Given the description of an element on the screen output the (x, y) to click on. 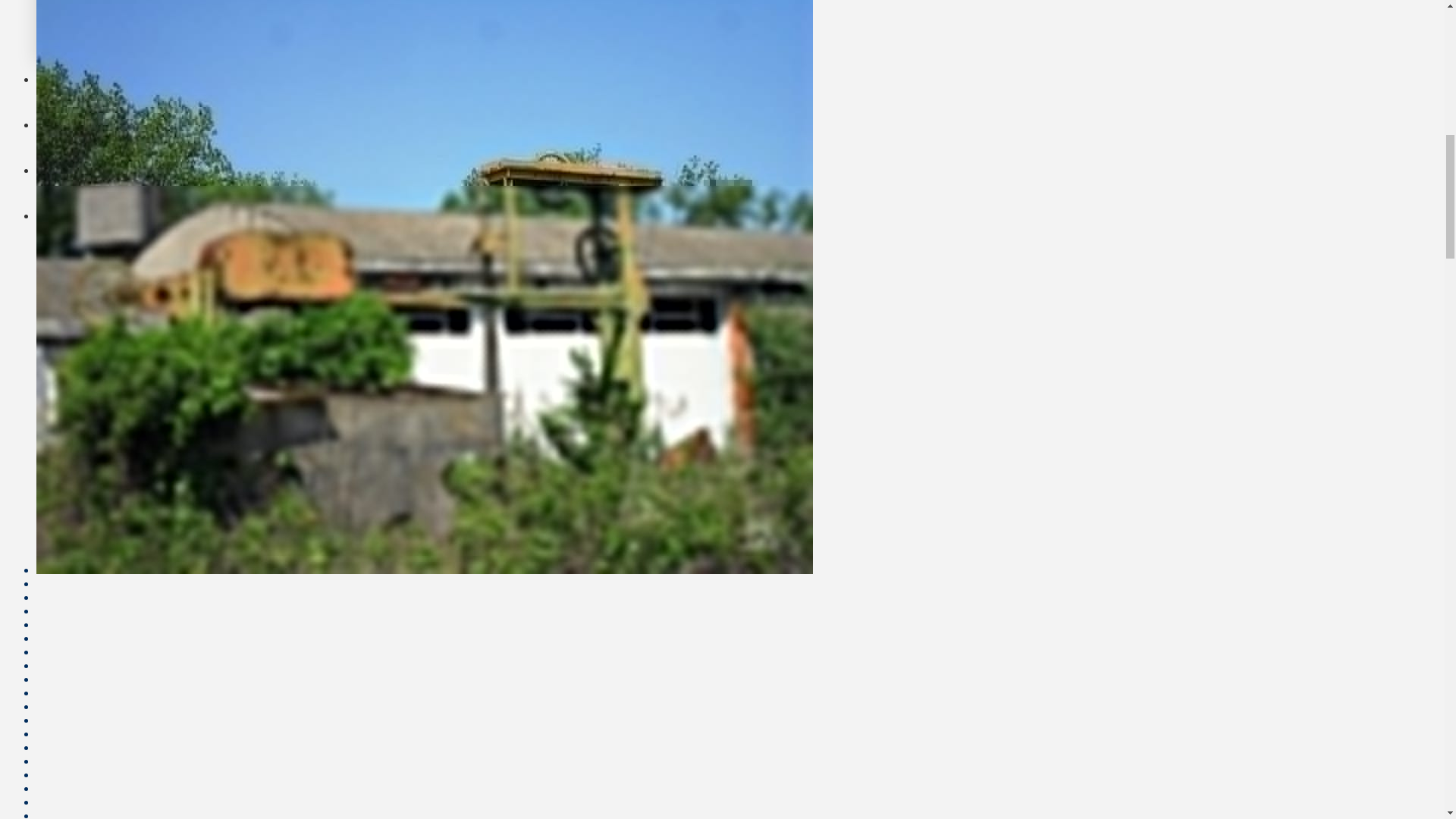
Traditions and events (148, 34)
Contacts (475, 222)
Project (475, 176)
Heritage policies (475, 131)
Landscapes of Molise (475, 85)
Museums (148, 2)
